Given the description of an element on the screen output the (x, y) to click on. 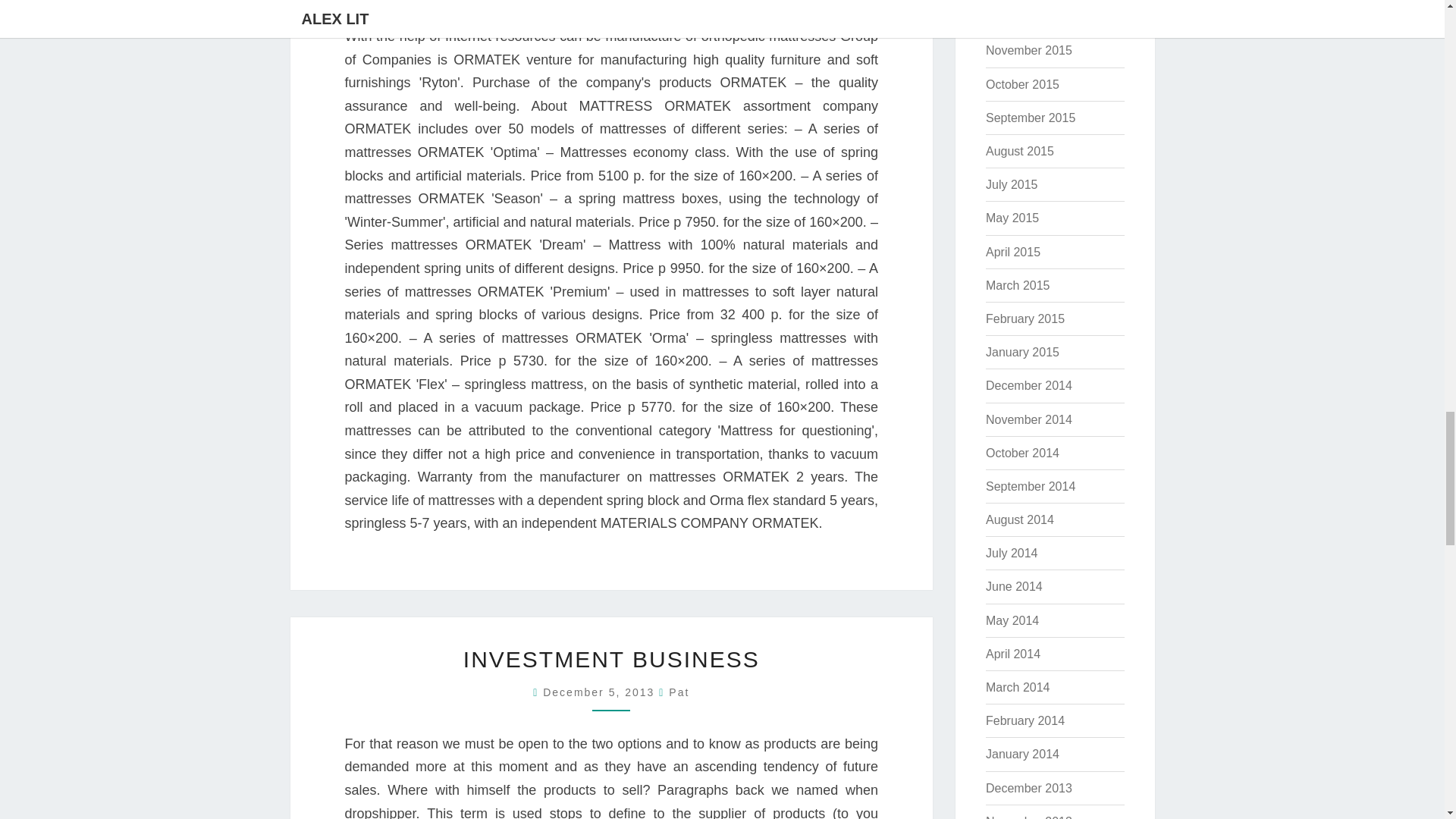
INVESTMENT BUSINESS (611, 659)
10:41 am (601, 692)
December 5, 2013 (601, 692)
Pat (678, 692)
View all posts by Pat (678, 692)
